Given the description of an element on the screen output the (x, y) to click on. 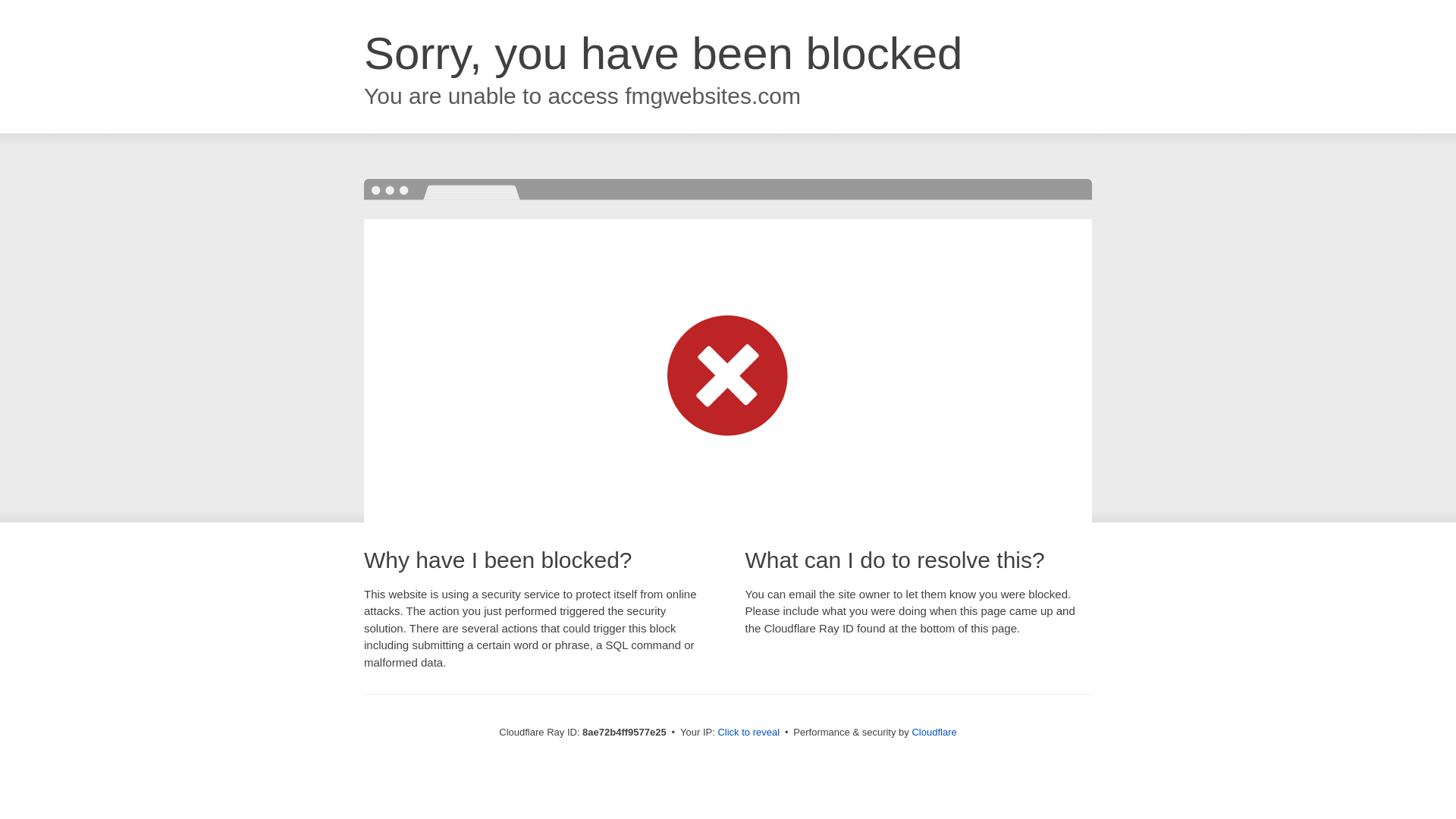
Cloudflare (933, 731)
Click to reveal (747, 732)
